Given the description of an element on the screen output the (x, y) to click on. 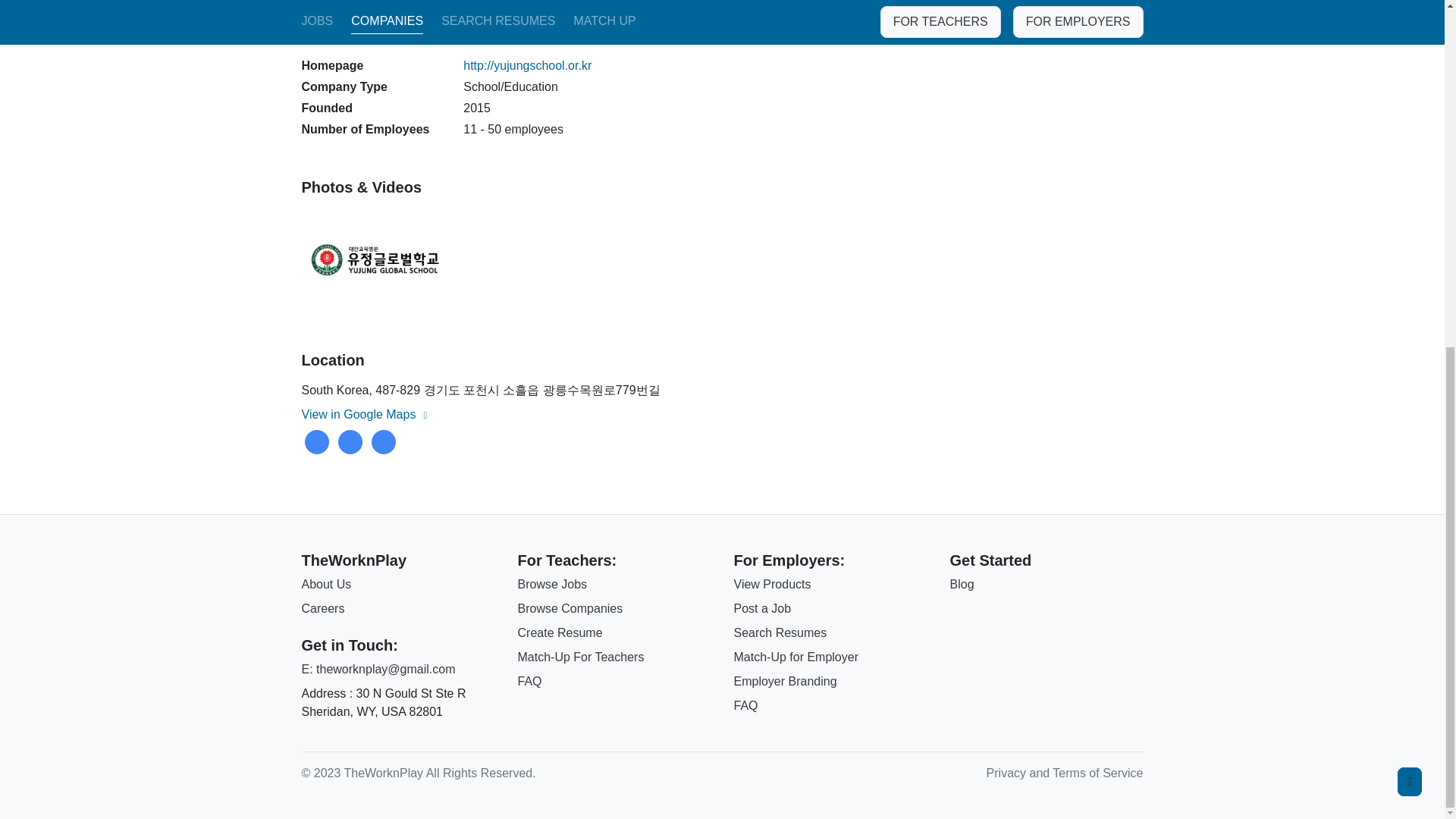
Careers (323, 608)
About Us (326, 584)
Browse Companies (569, 608)
Browse Jobs (551, 584)
View in Google Maps (365, 413)
Recommended travel mode (316, 441)
Transit (383, 441)
Create Resume (559, 632)
Match-Up For Teachers (579, 656)
View Products (771, 584)
Homepage (527, 65)
Driving (349, 441)
FAQ (528, 680)
